Given the description of an element on the screen output the (x, y) to click on. 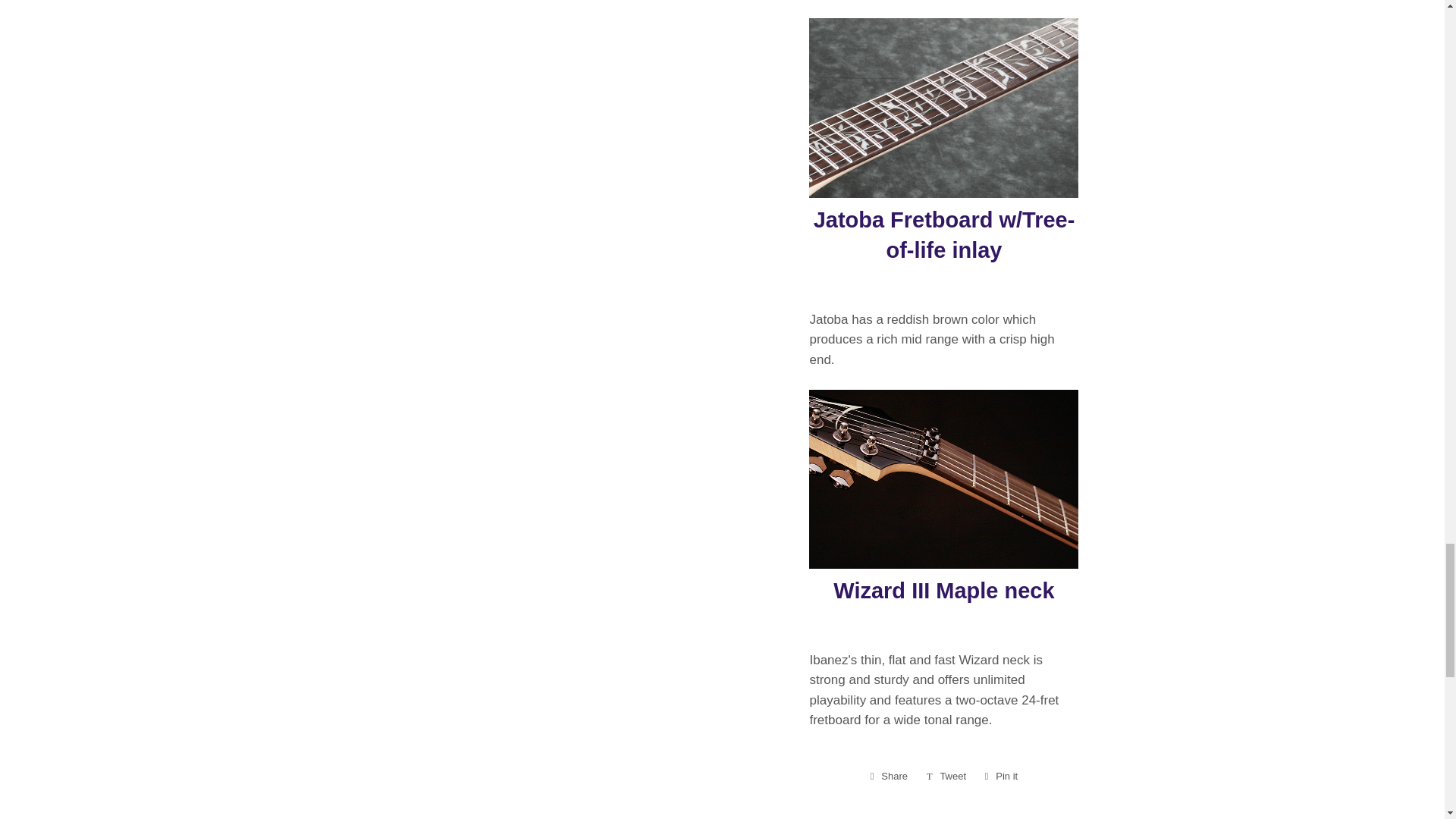
Tweet on Twitter (946, 775)
Share on Facebook (889, 775)
Pin on Pinterest (1000, 775)
